Given the description of an element on the screen output the (x, y) to click on. 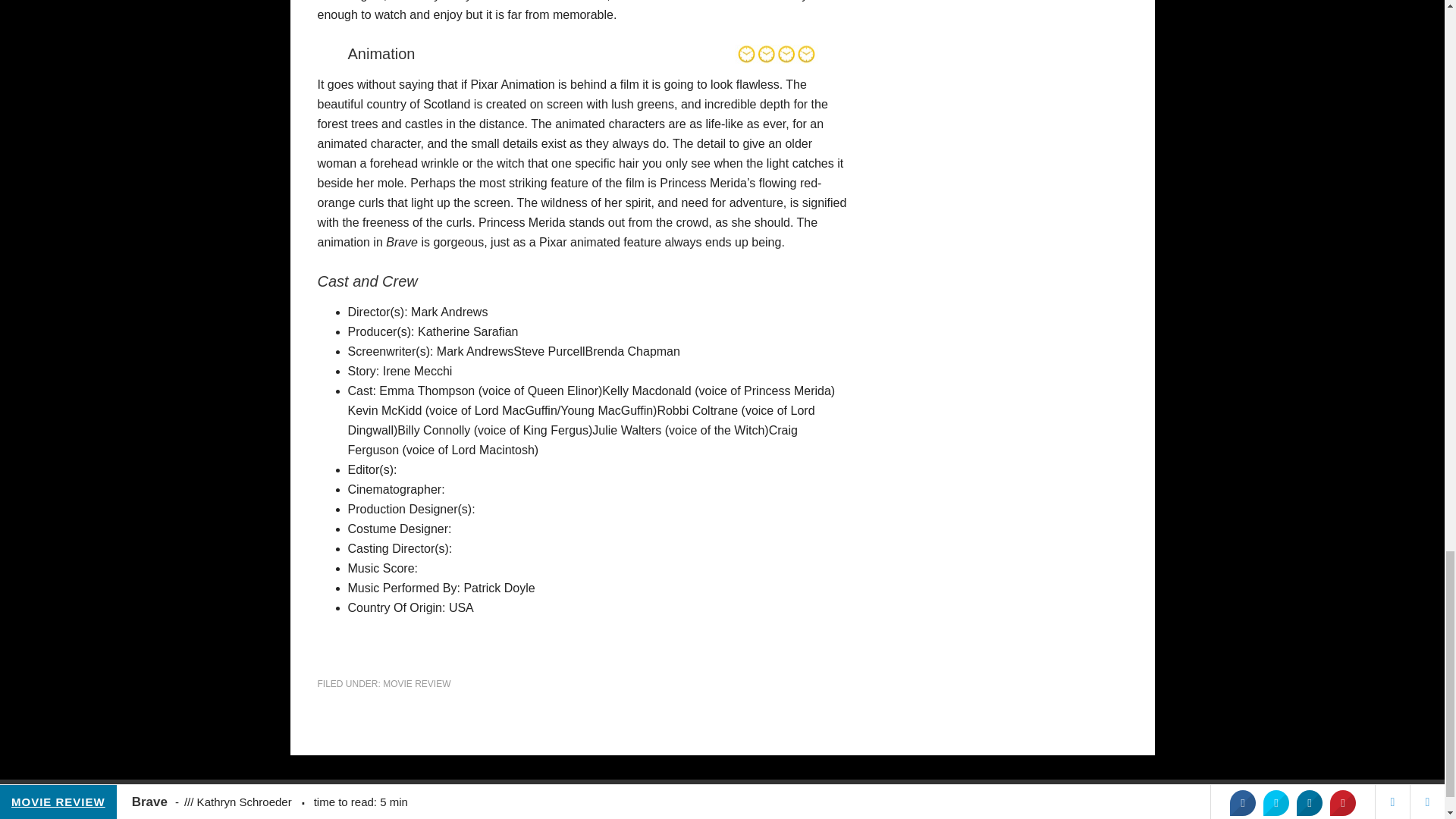
MOVIE REVIEW (415, 683)
